Given the description of an element on the screen output the (x, y) to click on. 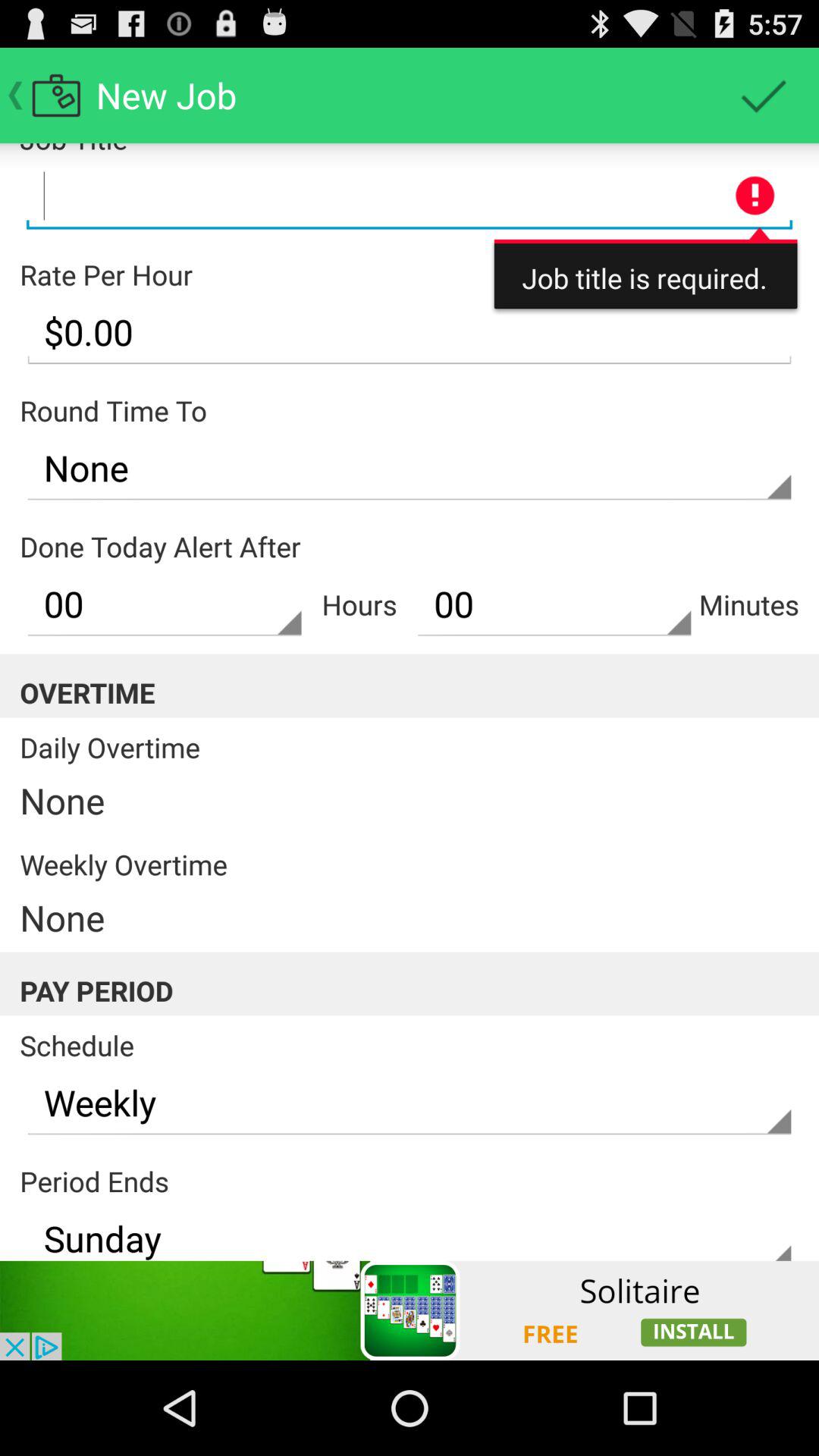
enter job title (409, 196)
